Given the description of an element on the screen output the (x, y) to click on. 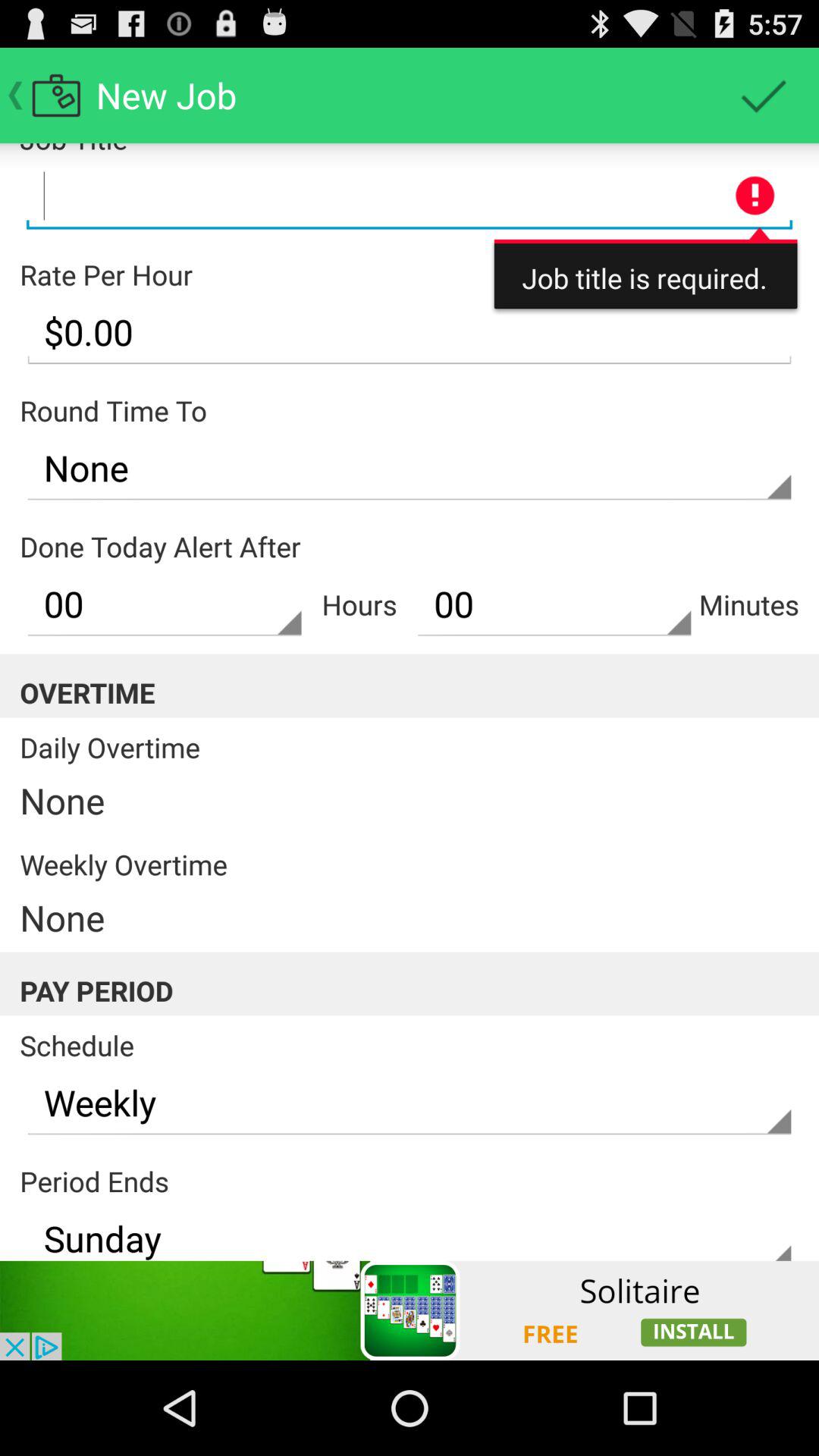
enter job title (409, 196)
